Given the description of an element on the screen output the (x, y) to click on. 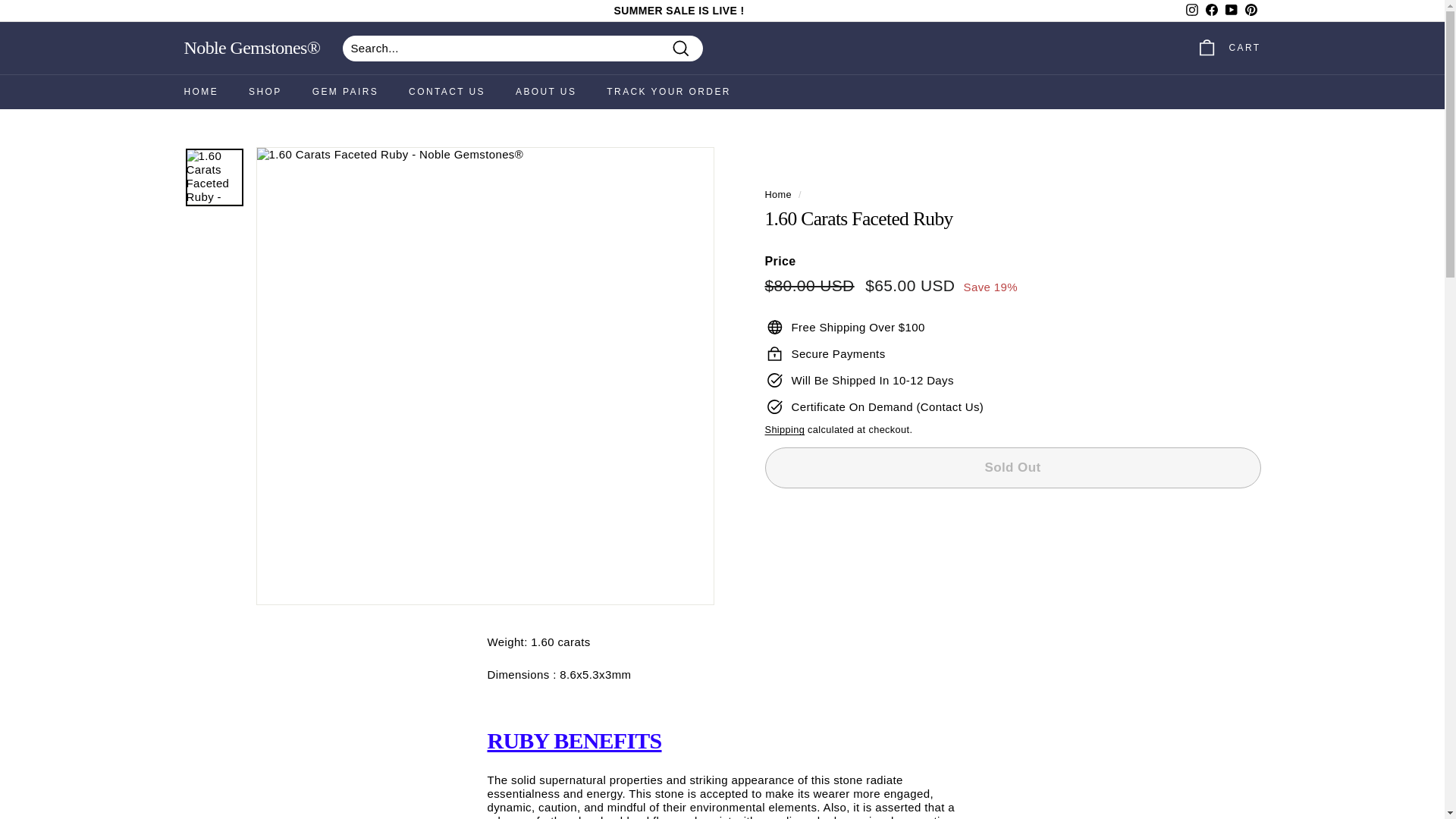
HOME (200, 91)
Pinterest (1250, 10)
Facebook (1211, 10)
Instagram (1190, 10)
YouTube (1230, 10)
SHOP (264, 91)
Back to the frontpage (778, 194)
